Given the description of an element on the screen output the (x, y) to click on. 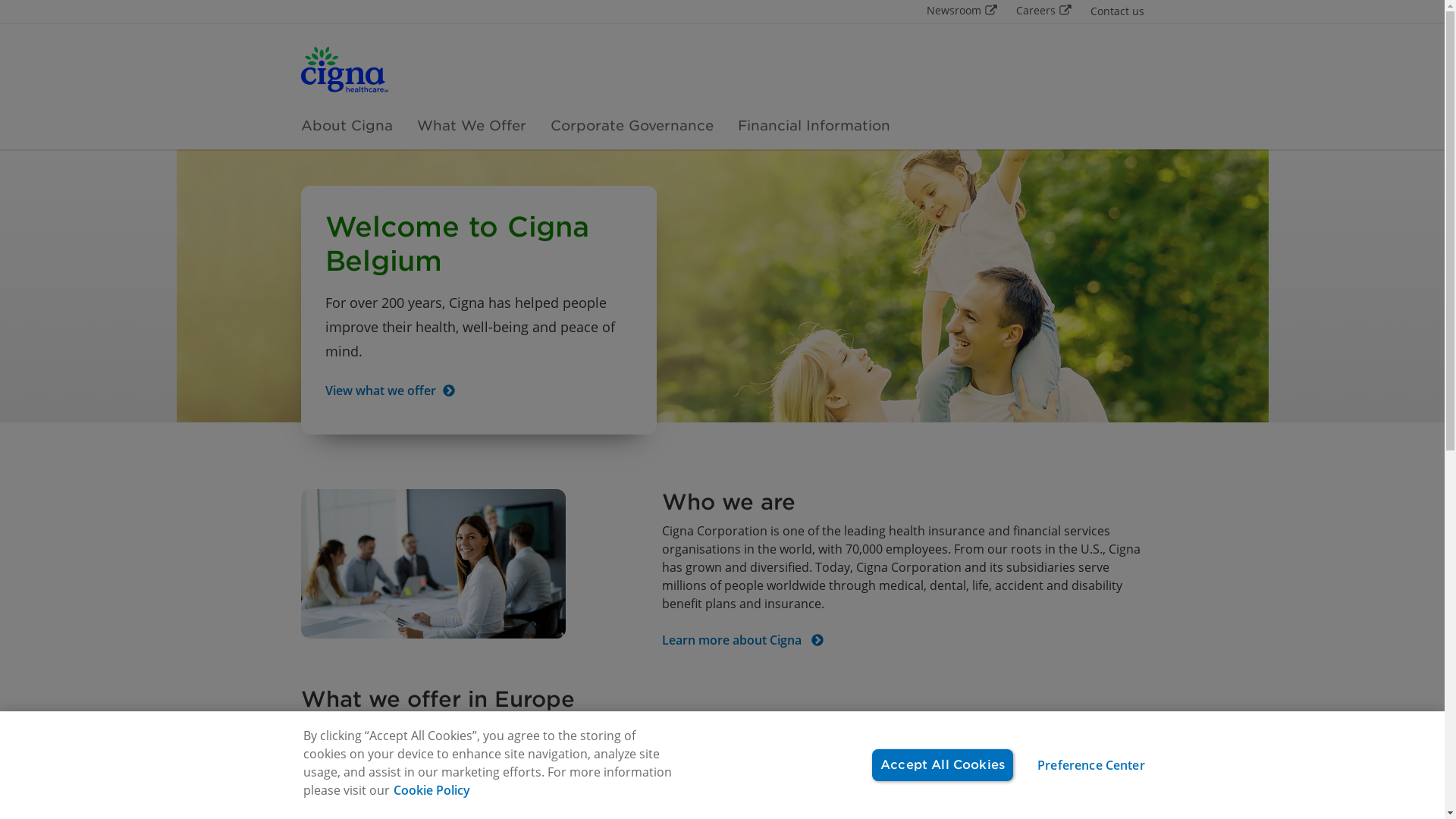
Accept All Cookies Element type: text (942, 765)
View what we offer Element type: text (389, 392)
Corporate Governance Element type: text (631, 126)
What We Offer Element type: text (471, 126)
Preference Center Element type: text (1091, 765)
Newsroom Element type: text (961, 11)
Cookie Policy Element type: text (430, 789)
Financial Information Element type: text (813, 126)
Learn more about Cigna Element type: text (743, 641)
About Cigna Element type: text (346, 126)
Contact us Element type: text (1117, 10)
Careers Element type: text (1044, 11)
